Given the description of an element on the screen output the (x, y) to click on. 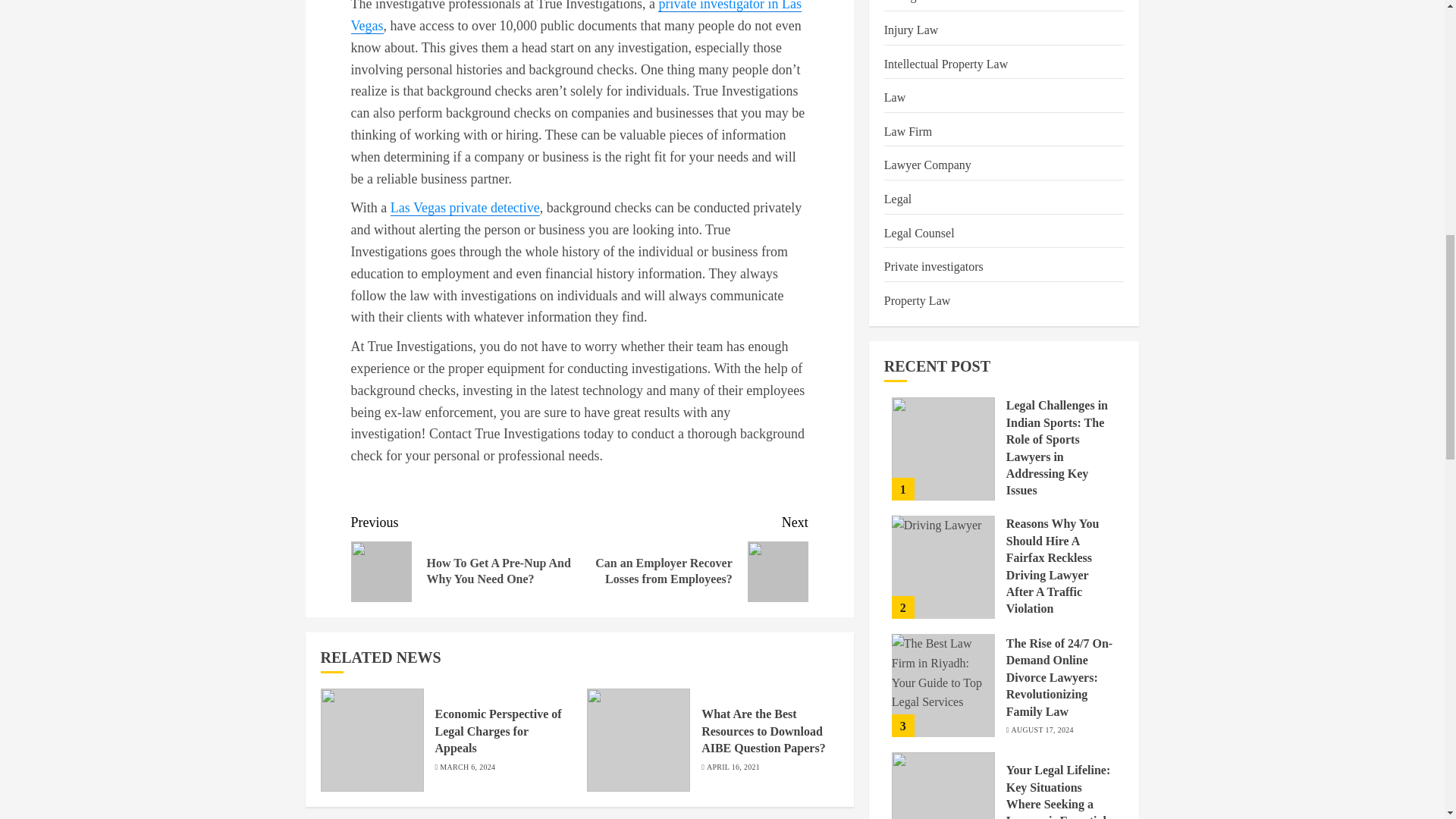
Las Vegas private detective (465, 207)
APRIL 16, 2021 (733, 767)
Economic Perspective of Legal Charges for Appeals (498, 731)
private investigator in Las Vegas (575, 17)
MARCH 6, 2024 (467, 767)
